Given the description of an element on the screen output the (x, y) to click on. 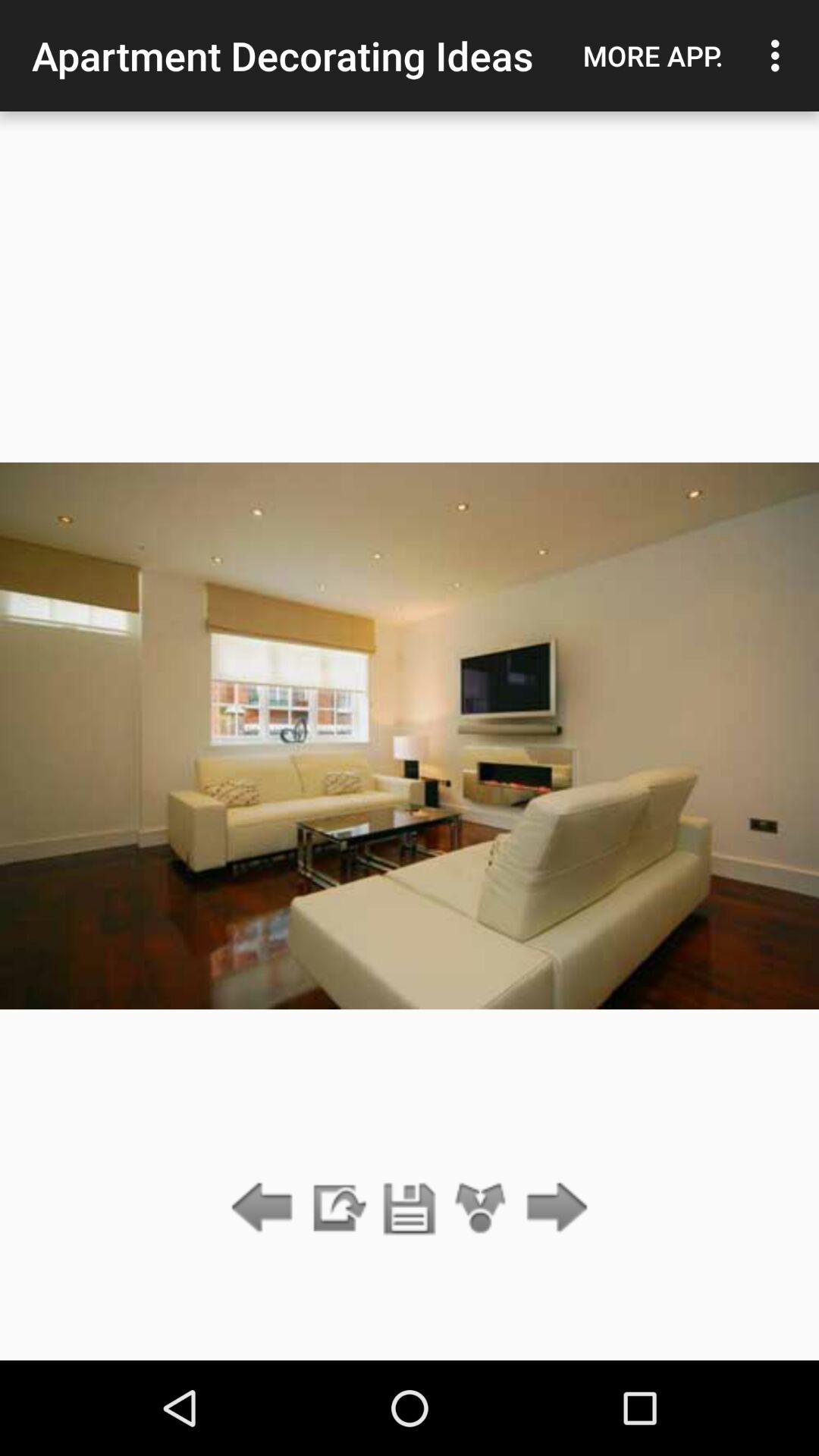
launch the icon next to the apartment decorating ideas (653, 55)
